Given the description of an element on the screen output the (x, y) to click on. 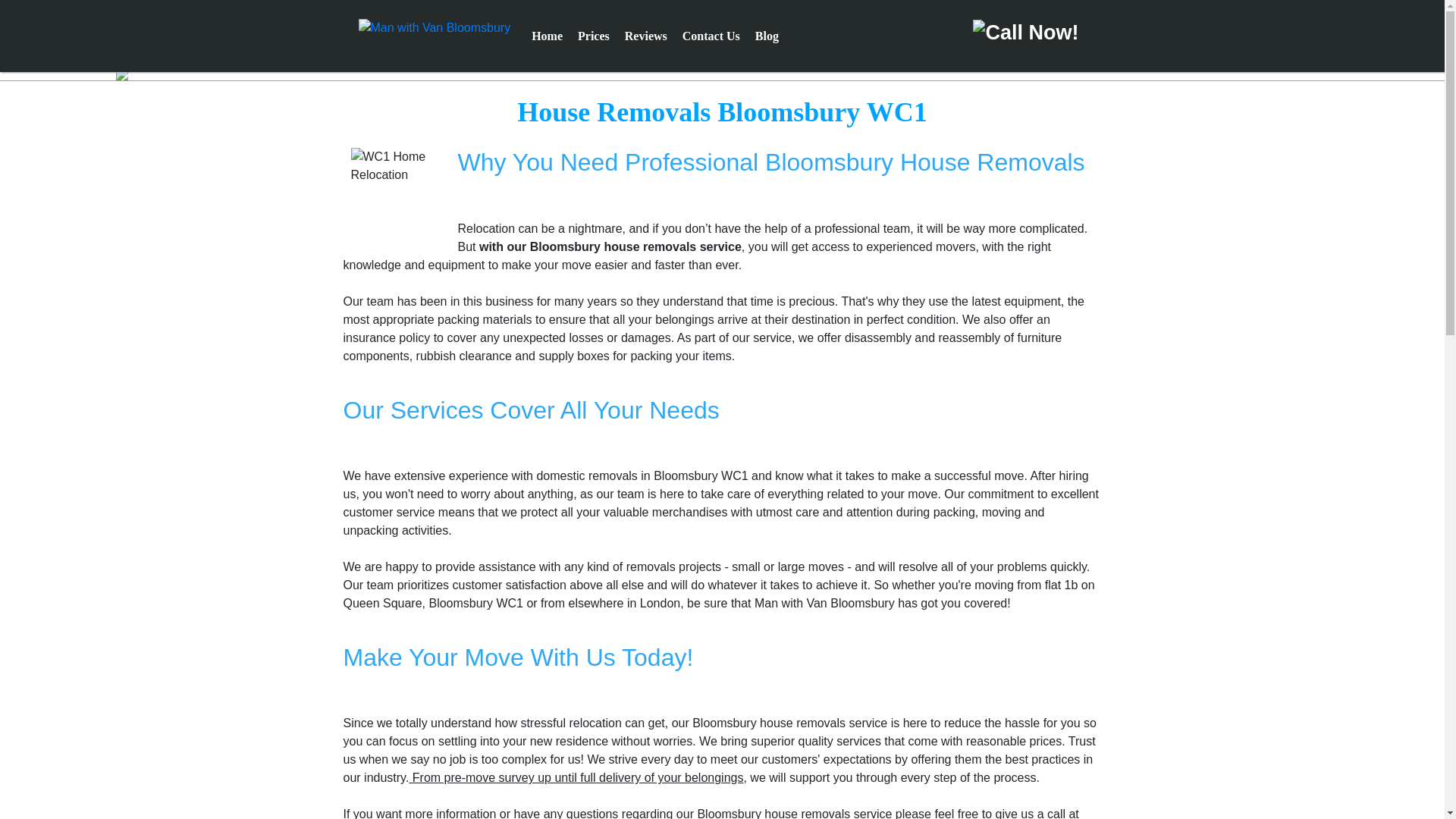
Home (546, 36)
Prices (593, 36)
1 (717, 72)
Call Now! (1023, 31)
3 (737, 72)
2 (726, 72)
Contact Us (710, 36)
2 (726, 72)
Reviews (646, 36)
1 (717, 72)
